Given the description of an element on the screen output the (x, y) to click on. 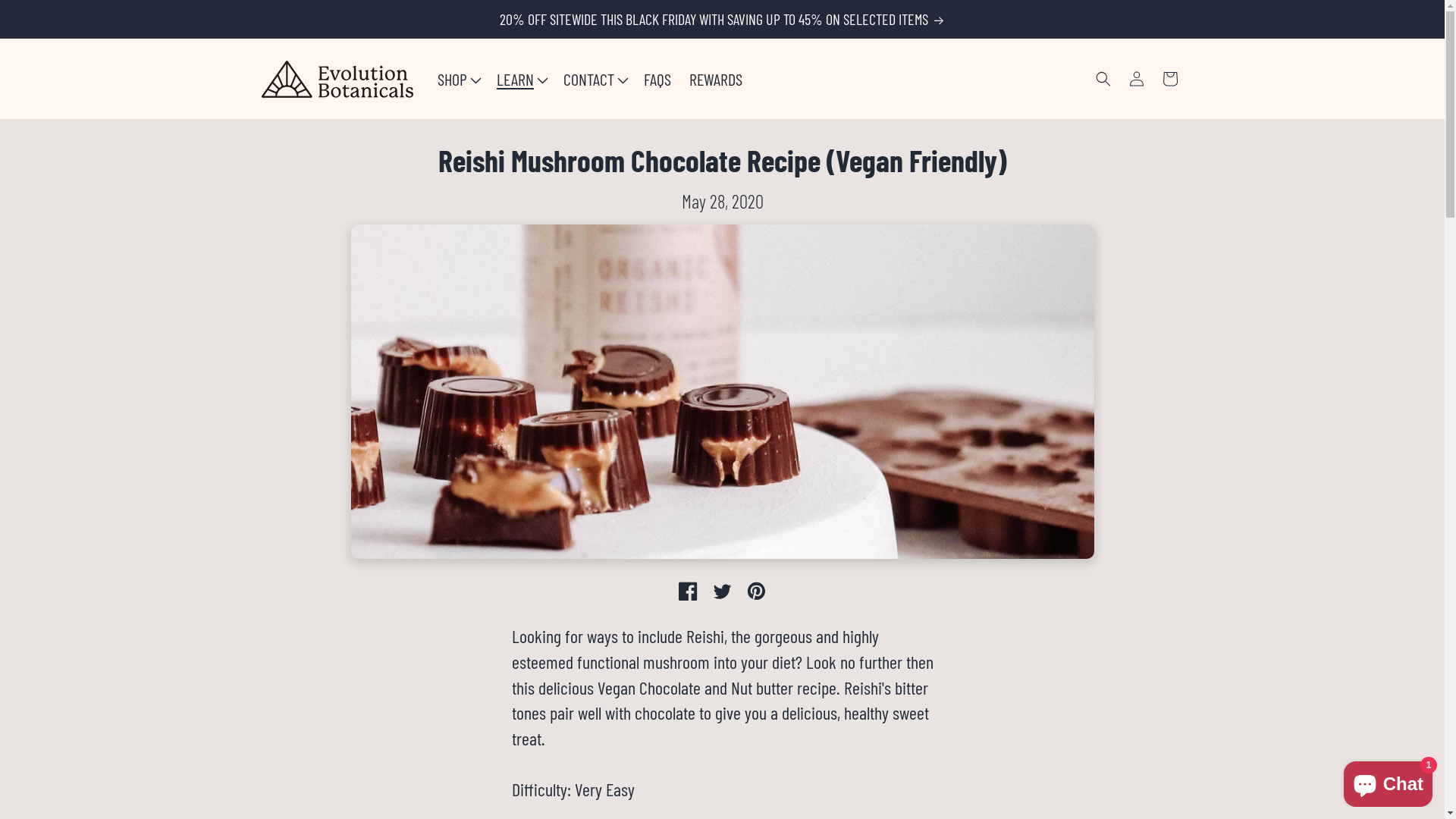
Twitter Element type: text (721, 590)
Cart Element type: text (1169, 78)
Facebook Element type: text (687, 590)
REWARDS Element type: text (715, 79)
FAQS Element type: text (657, 79)
Log in Element type: text (1135, 78)
Shopify online store chat Element type: hover (1388, 780)
Pinterest Element type: text (755, 590)
